Given the description of an element on the screen output the (x, y) to click on. 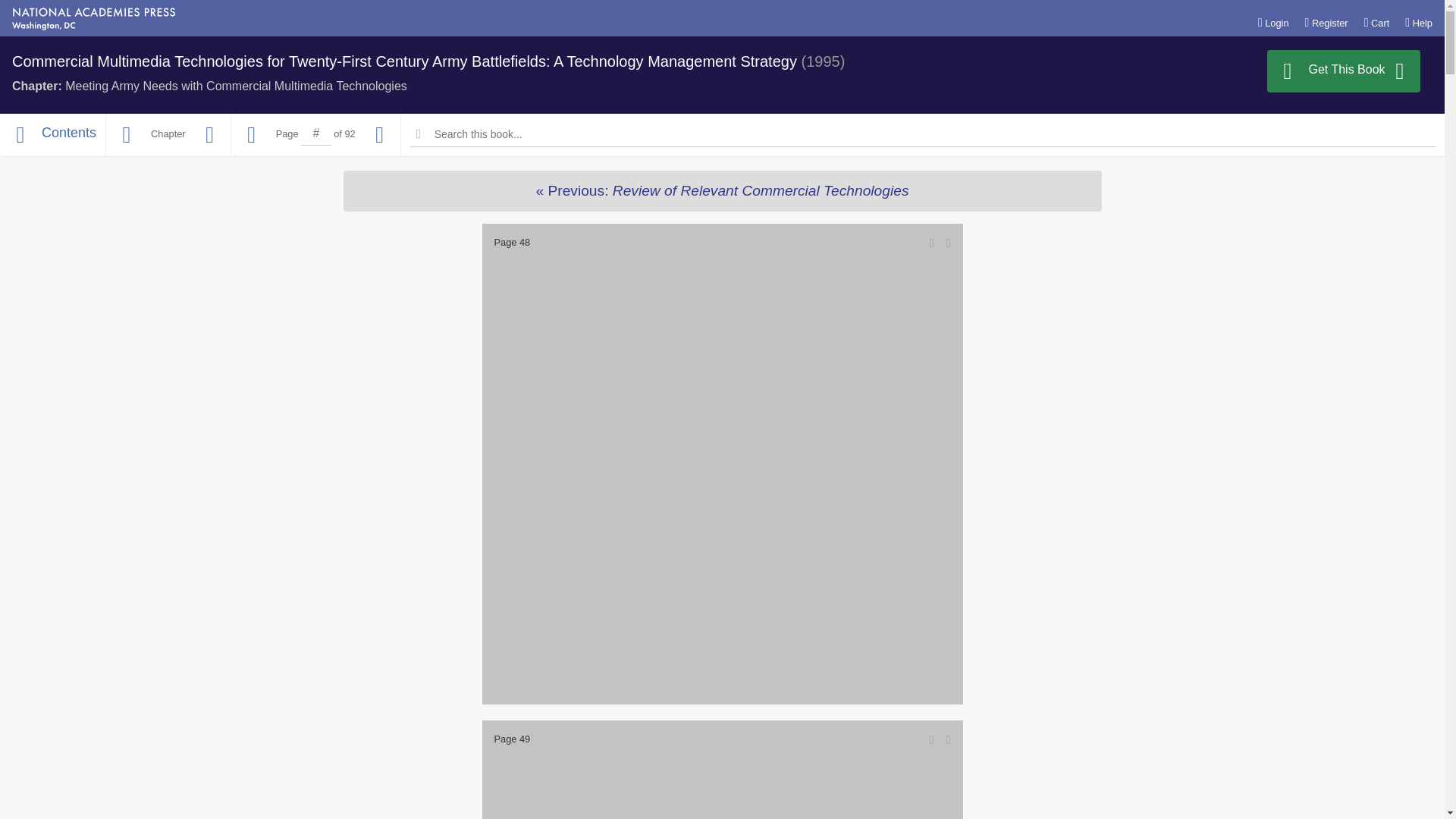
Previous Page (251, 134)
Buy or download a copy of this book. (1343, 70)
Previous Chapter (126, 134)
Previous Chapter (721, 190)
Get This Book (1343, 70)
Cart (1377, 22)
Next Page (379, 134)
Login (1272, 22)
Register (1326, 22)
